Given the description of an element on the screen output the (x, y) to click on. 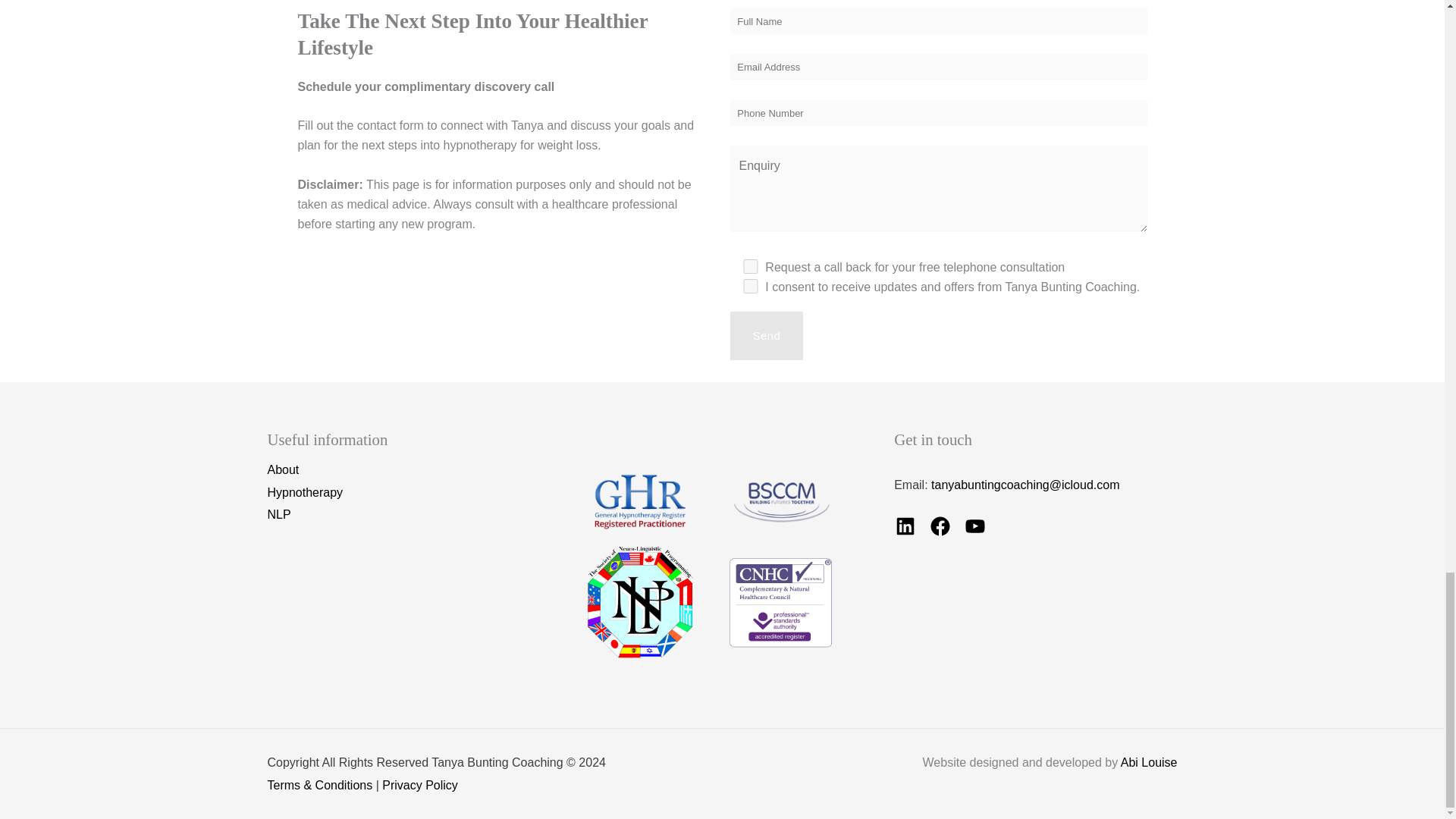
Request a call back for your free telephone consultation (749, 266)
Abi Louise (1149, 762)
About (282, 469)
Send (766, 336)
Send (766, 336)
NLP (277, 514)
Hypnotherapy (304, 492)
1 (749, 286)
Privacy Policy (419, 784)
